Given the description of an element on the screen output the (x, y) to click on. 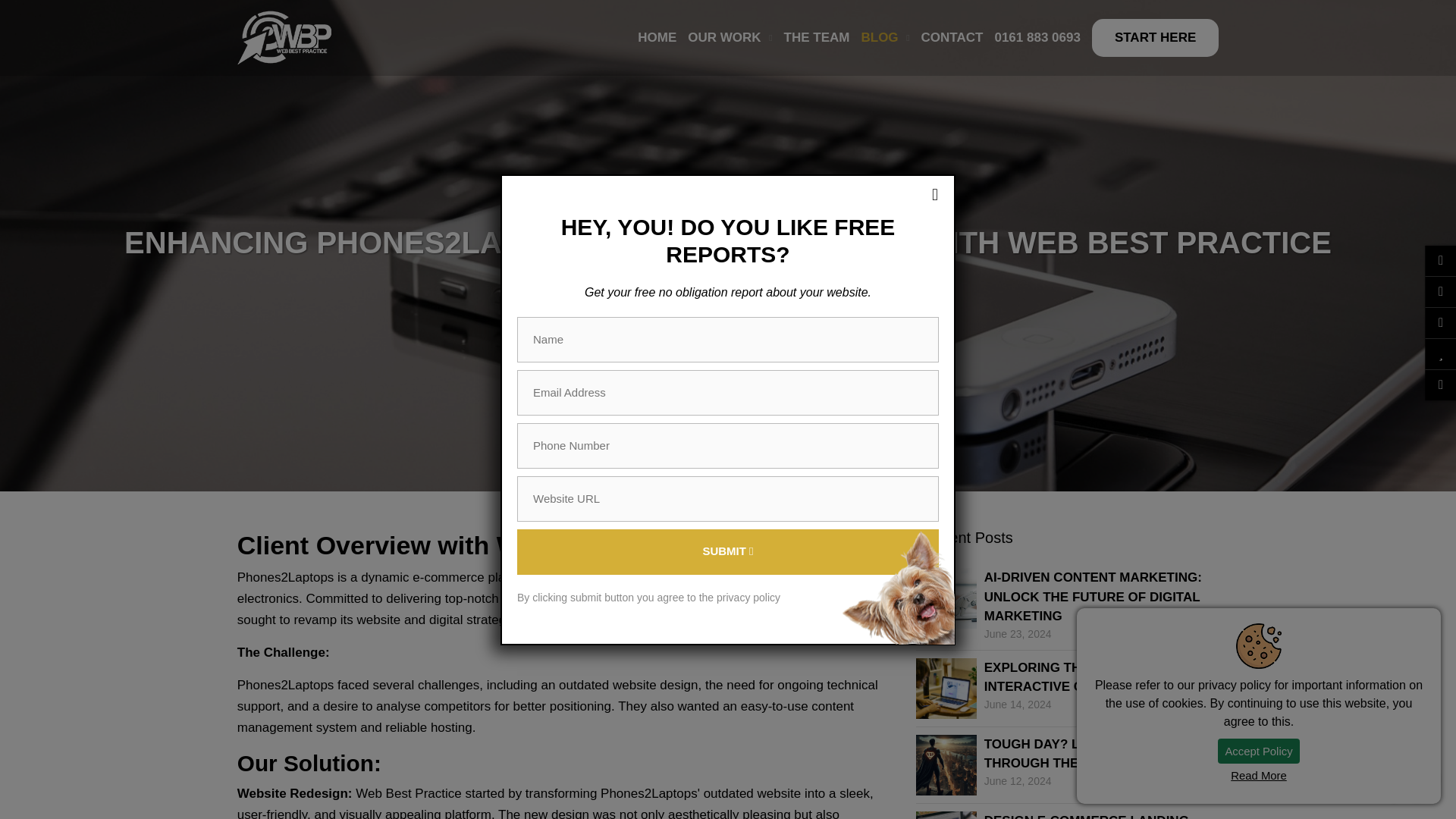
OUR WORK (723, 38)
SUBMIT (727, 551)
Accept Policy (1258, 750)
Read More (1259, 775)
